Given the description of an element on the screen output the (x, y) to click on. 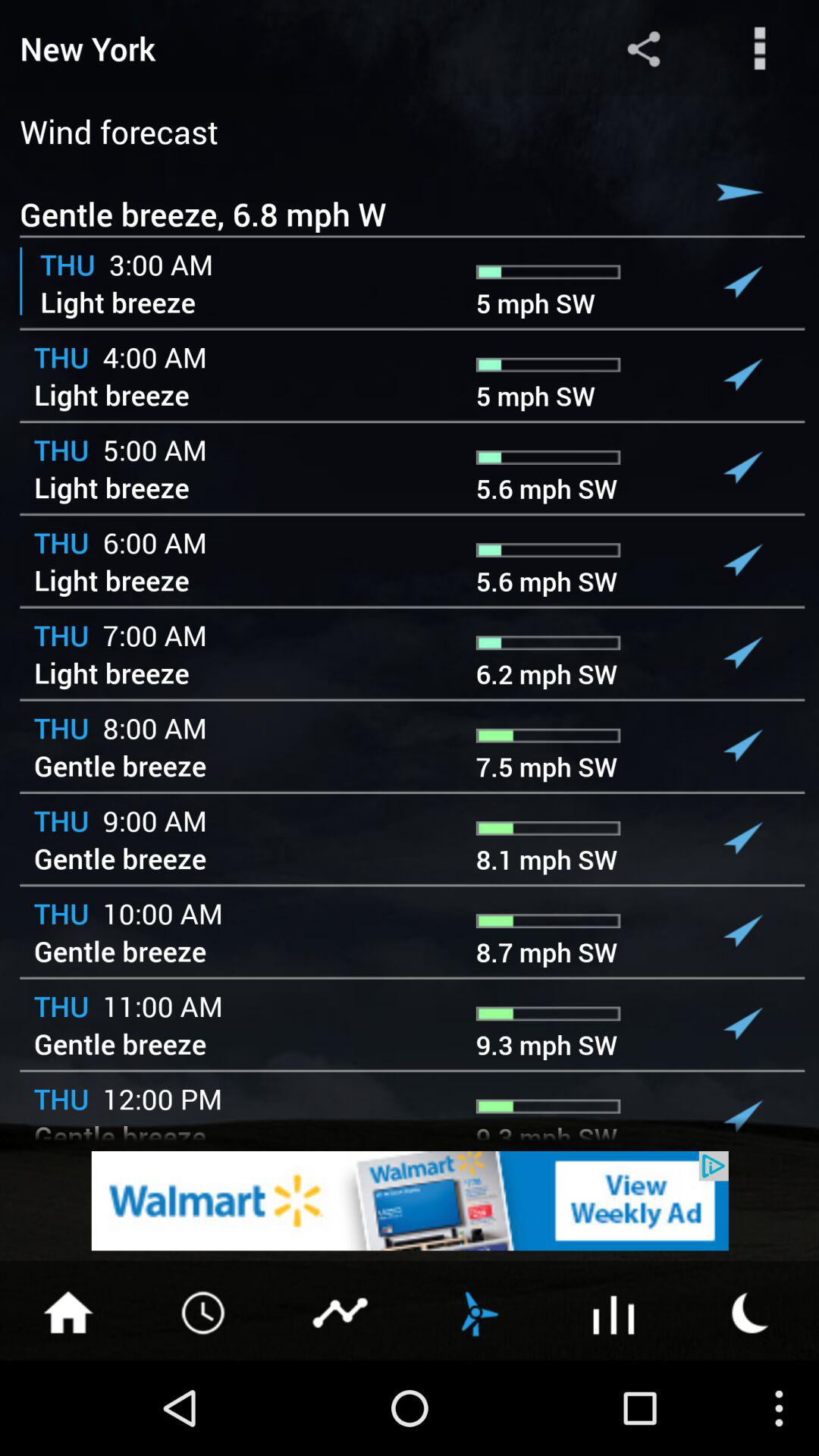
click to home page (68, 1311)
